Given the description of an element on the screen output the (x, y) to click on. 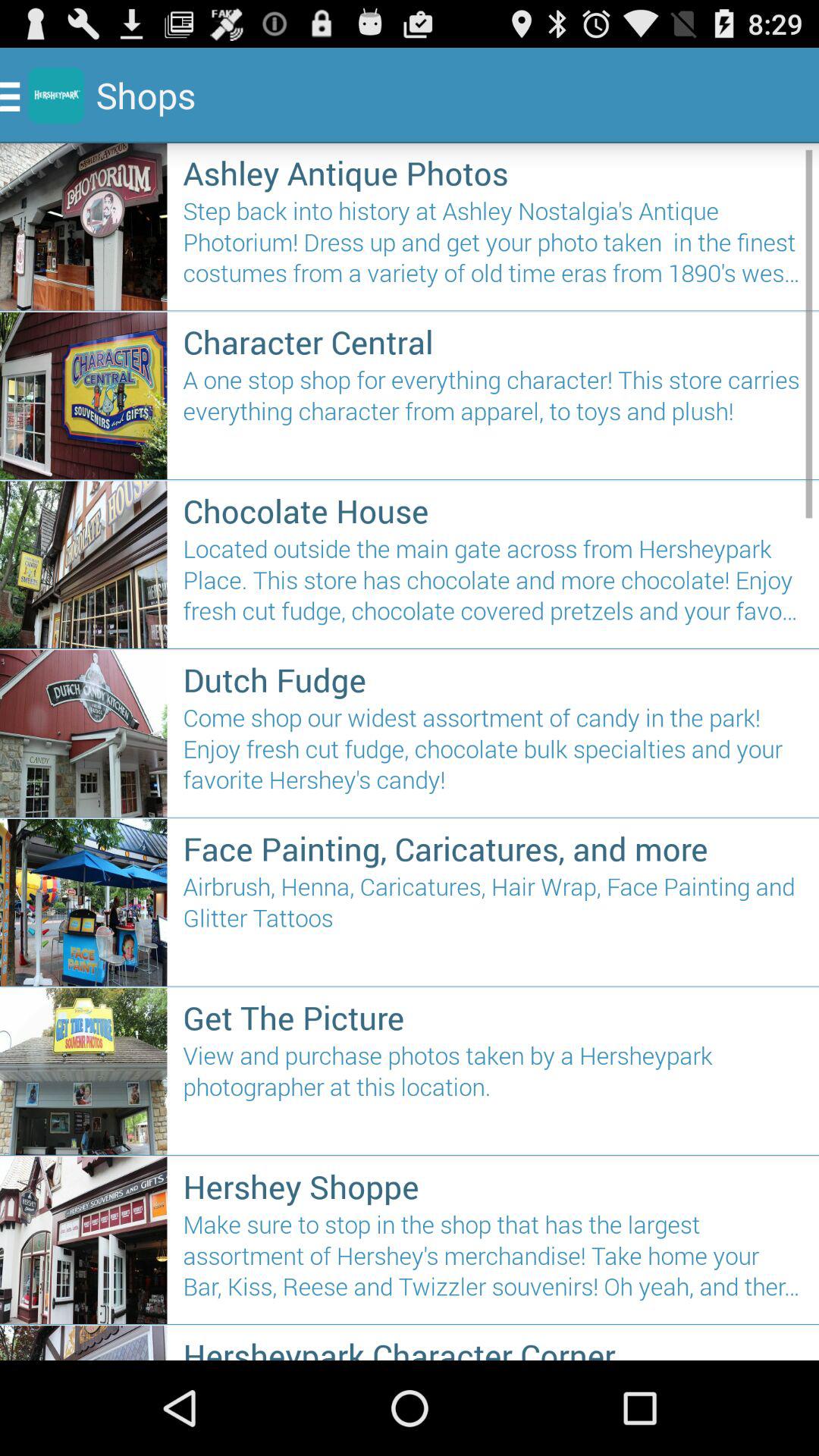
scroll to dutch fudge (493, 679)
